Given the description of an element on the screen output the (x, y) to click on. 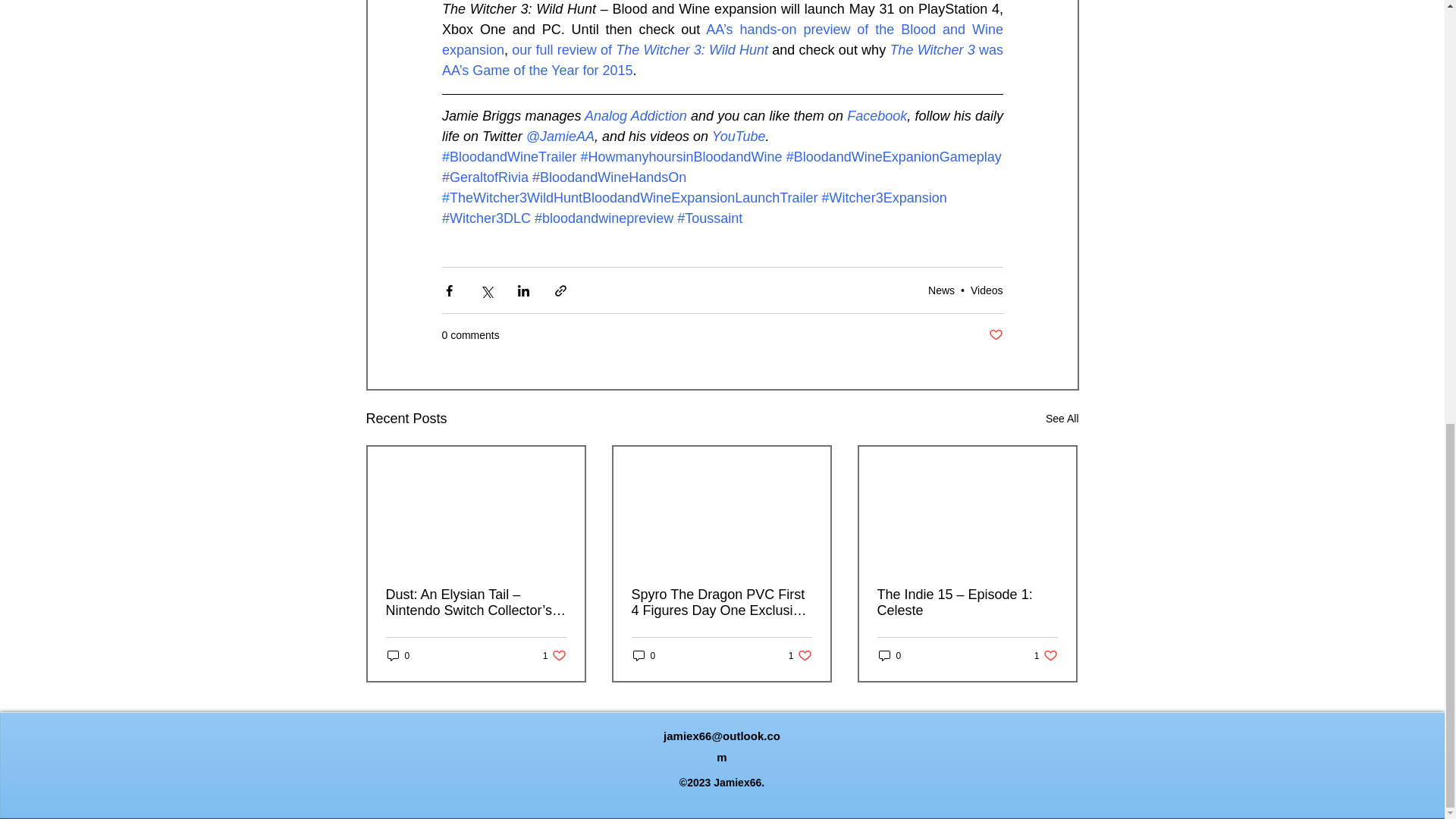
Videos (987, 290)
YouTube (738, 136)
The Witcher 3 (931, 49)
Facebook (877, 115)
News (941, 290)
The Witcher 3: Wild Hunt (691, 49)
Analog Addiction (636, 115)
our full review of  (563, 49)
